Given the description of an element on the screen output the (x, y) to click on. 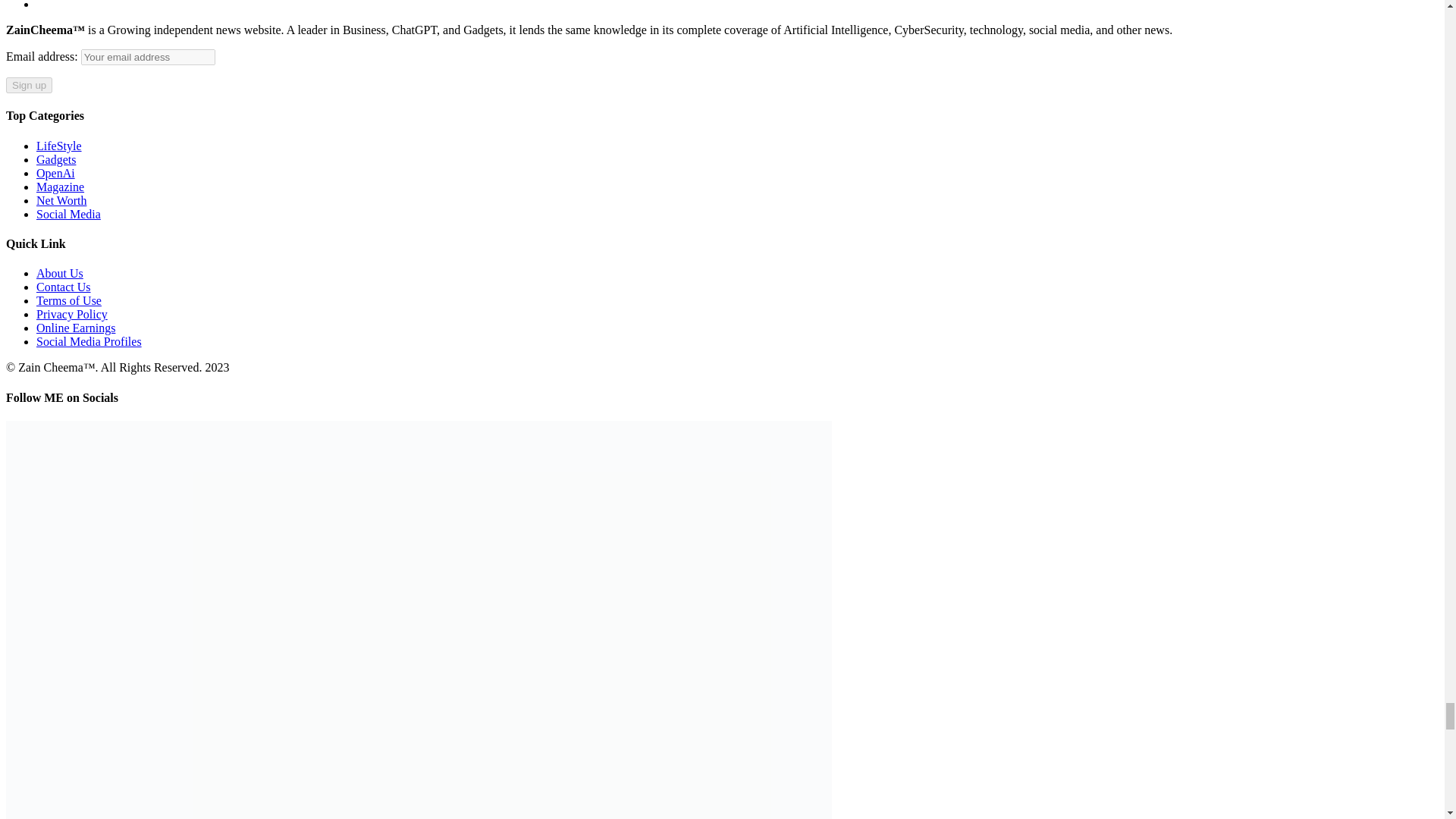
Sign up (28, 84)
